Given the description of an element on the screen output the (x, y) to click on. 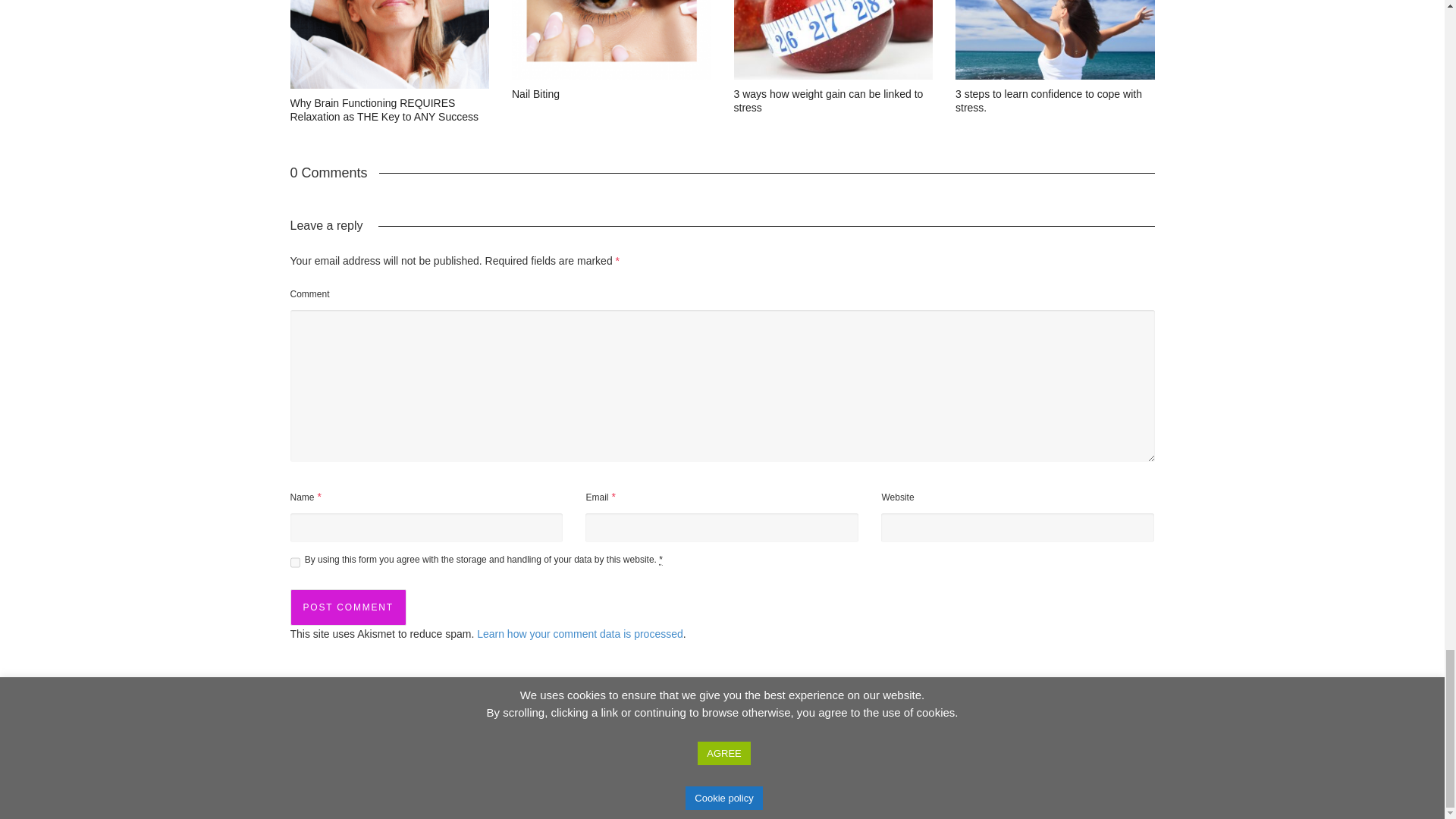
Post comment (347, 606)
Permanent Link to Nail Biting (535, 93)
Hypnotherapy Treatments (889, 797)
